Given the description of an element on the screen output the (x, y) to click on. 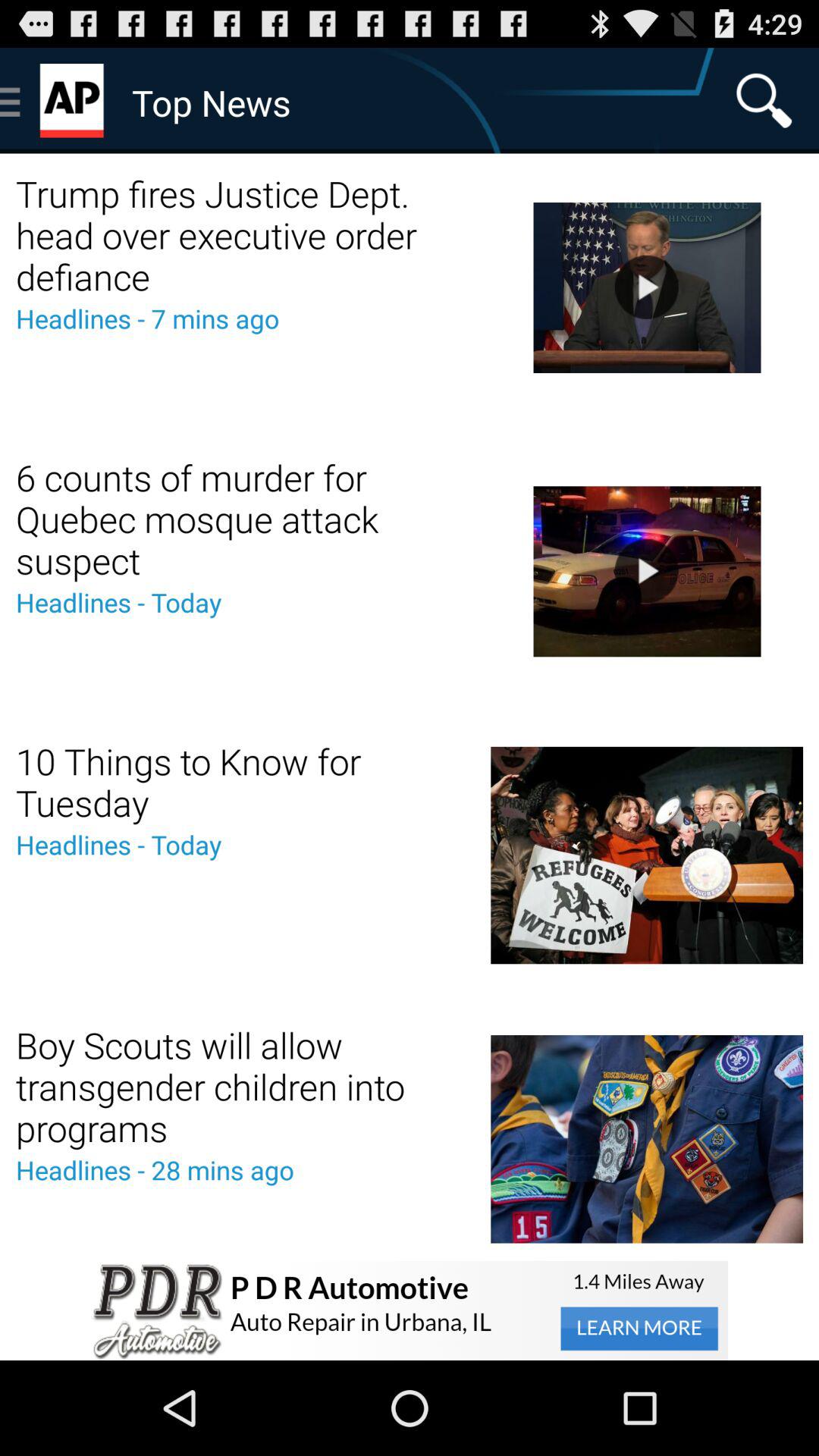
turn off app next to top news icon (764, 100)
